Given the description of an element on the screen output the (x, y) to click on. 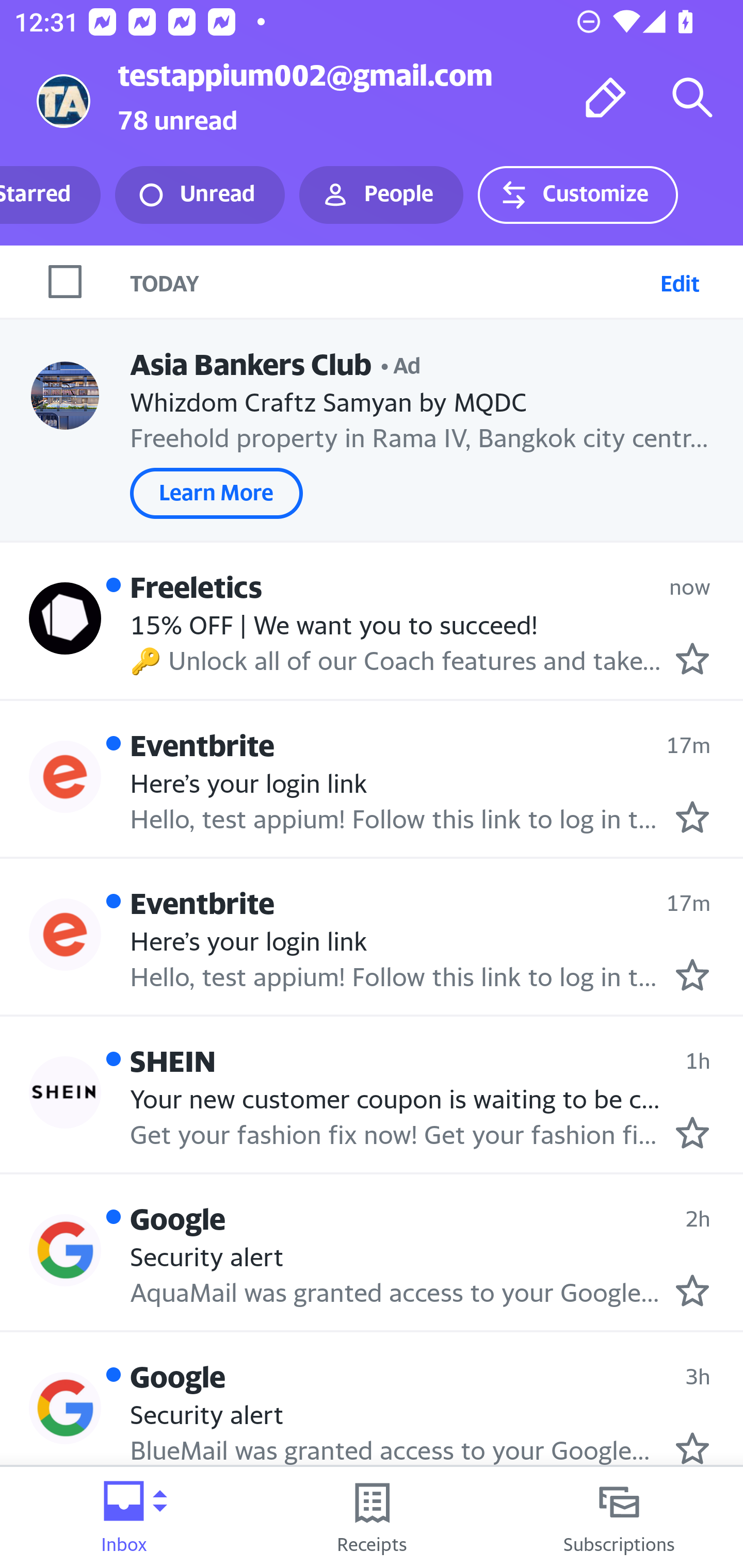
Compose (605, 97)
Search mail (692, 97)
Unread (199, 195)
People (381, 195)
Customize (577, 195)
TODAY (391, 281)
Edit Select emails (679, 281)
Profile
Freeletics (64, 617)
Mark as starred. (692, 659)
Profile
Eventbrite (64, 776)
Mark as starred. (692, 817)
Profile
Eventbrite (64, 934)
Mark as starred. (692, 974)
Profile
SHEIN (64, 1092)
Mark as starred. (692, 1132)
Profile
Google (64, 1249)
Mark as starred. (692, 1291)
Profile
Google (64, 1408)
Mark as starred. (692, 1448)
Inbox Folder picker (123, 1517)
Receipts (371, 1517)
Subscriptions (619, 1517)
